Given the description of an element on the screen output the (x, y) to click on. 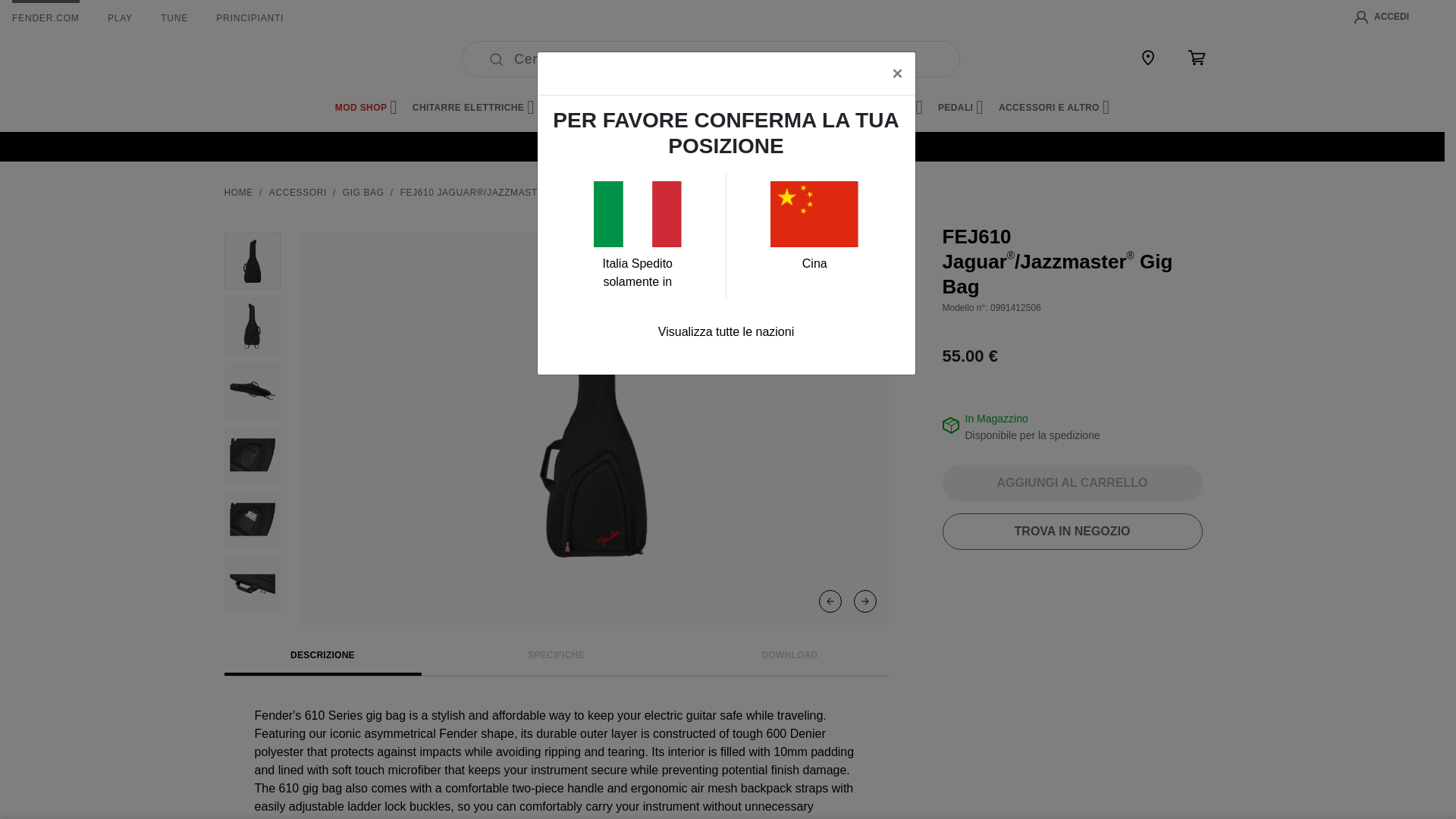
CHITARRE ELETTRICHE (473, 107)
PRINCIPIANTI (249, 18)
Fender Home (261, 58)
TUNE (173, 18)
FENDER.COM (45, 18)
ACCEDI (1381, 17)
PLAY (119, 18)
MOD SHOP (365, 107)
